Given the description of an element on the screen output the (x, y) to click on. 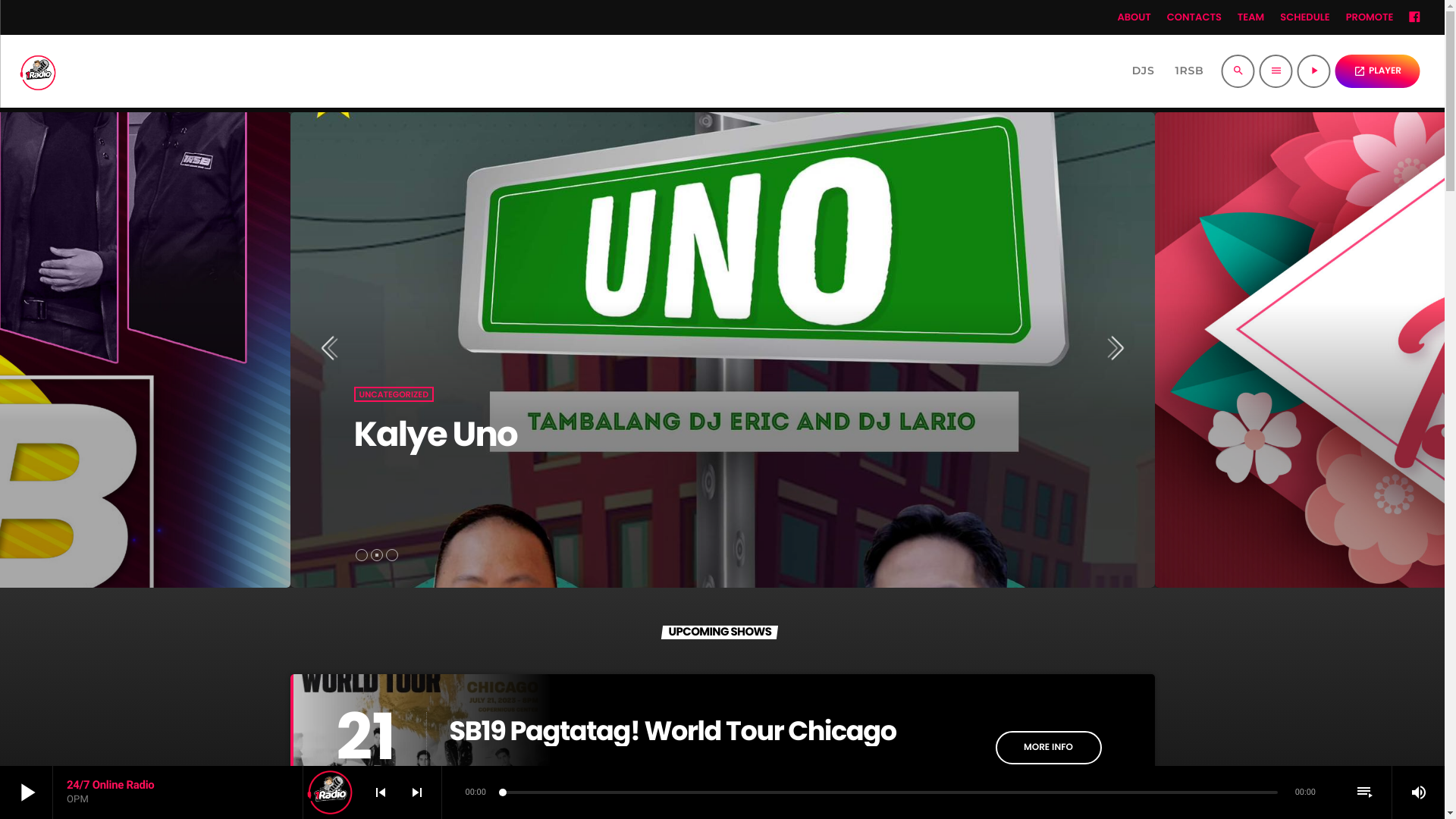
DJS Element type: text (1143, 71)
Kalye Uno Element type: text (434, 434)
MORE INFO Element type: text (1047, 747)
PROMOTE Element type: text (1369, 17)
ABOUT Element type: text (1133, 17)
TEAM Element type: text (1250, 17)
24/7 Online Radio Element type: text (110, 784)
SB19 Pagtatag! World Tour Chicago Element type: text (671, 730)
play_arrow Element type: text (1313, 70)
menu Element type: text (1275, 70)
1RSB Element type: text (1188, 71)
open_in_new
PLAYER Element type: text (1377, 70)
UNCATEGORIZED Element type: text (393, 393)
CONTACTS Element type: text (1193, 17)
SCHEDULE Element type: text (1304, 17)
search Element type: text (1238, 70)
